Given the description of an element on the screen output the (x, y) to click on. 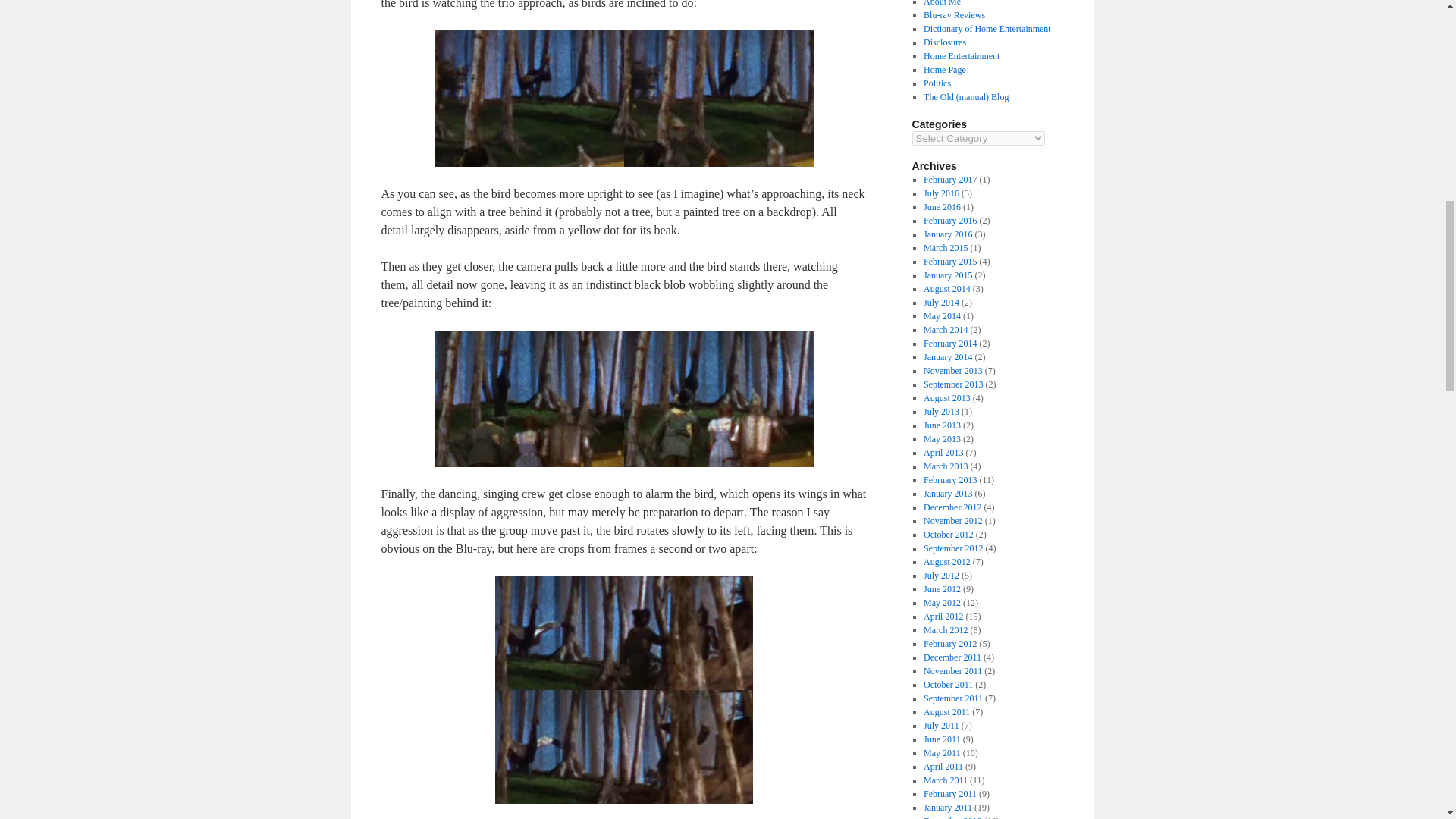
Blu-ray disc reviews and DVD comparisons (954, 14)
Wizard of Oz - bird becomes indistinct blob (622, 398)
All about the website owner, Stephen Dawson (941, 3)
Wizard of Oz - Aggro bird (623, 689)
Assorted political and op-ed articles (936, 82)
A Dictionary of Home Entertainment (987, 28)
Longer articles about Home Entertainment (960, 55)
Wizard of Oz - a wary bird (622, 98)
